Given the description of an element on the screen output the (x, y) to click on. 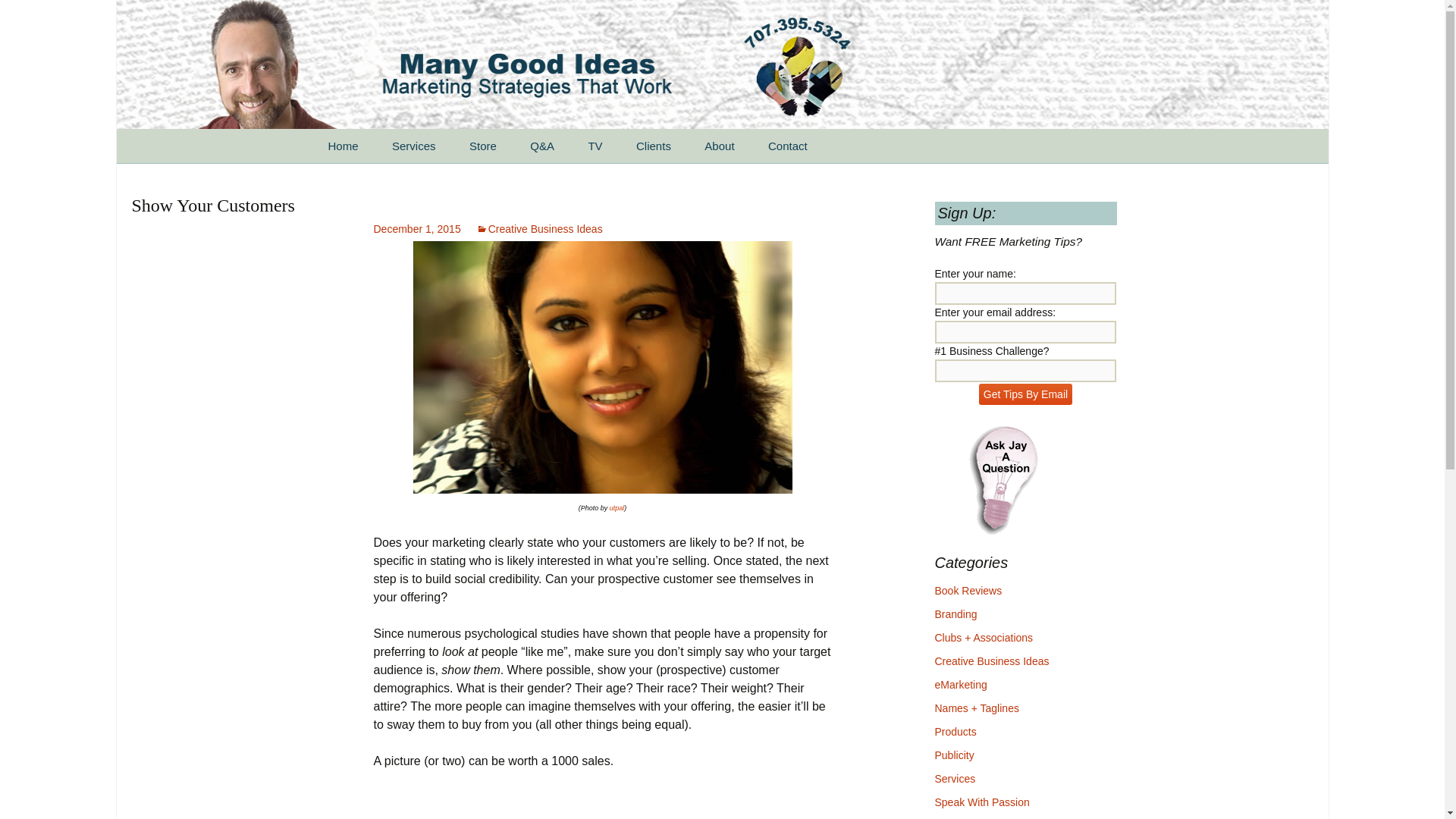
Store (483, 145)
Services (954, 778)
Speak With Passion (981, 802)
TV (594, 145)
About (718, 145)
eMarketing (960, 684)
Branding (955, 613)
utpal (617, 507)
Book Reviews (967, 590)
Contact (787, 145)
Products (954, 731)
December 1, 2015 (416, 228)
Clients (653, 145)
